Given the description of an element on the screen output the (x, y) to click on. 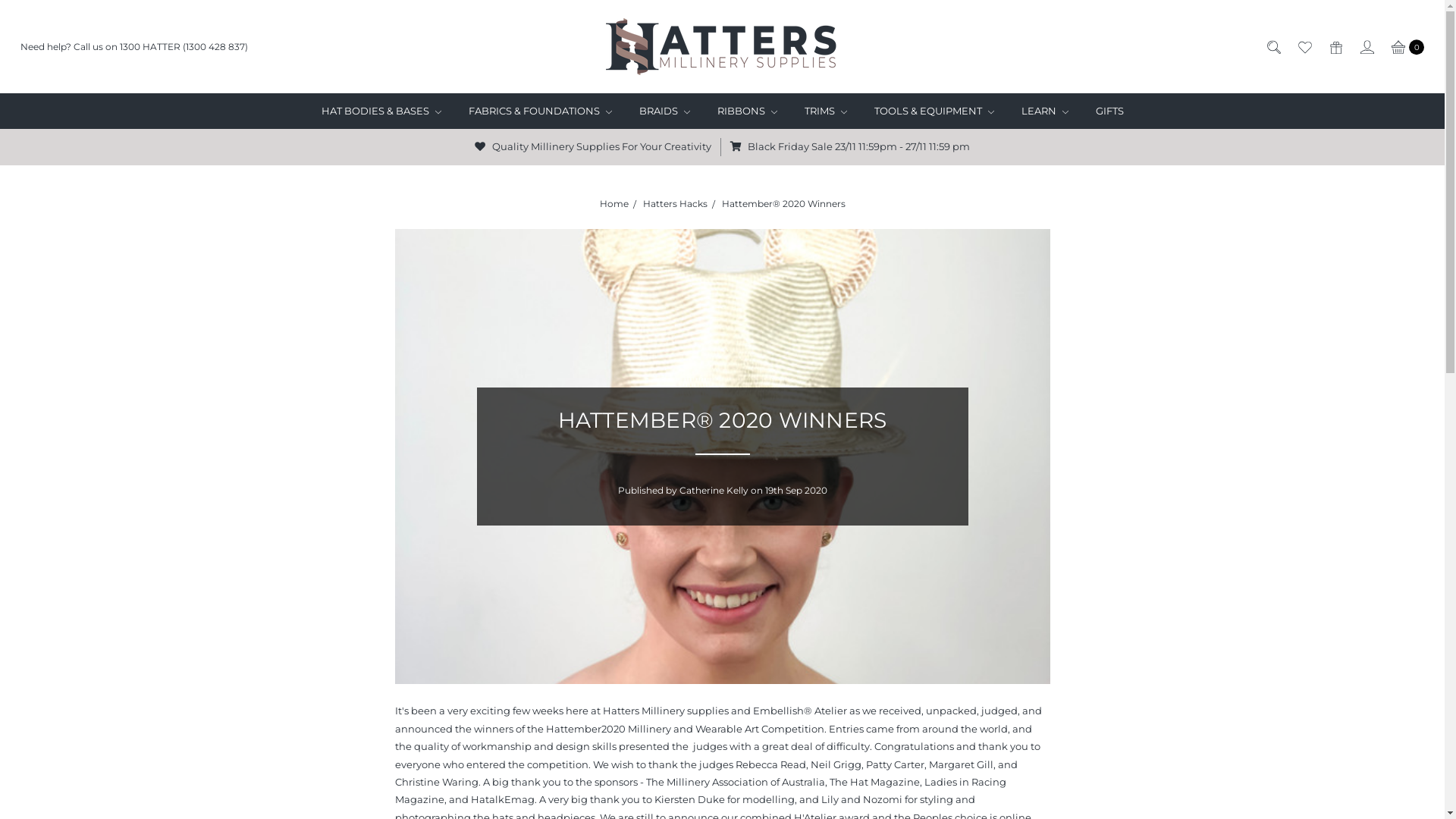
Hatters Millinery Supplies Element type: hover (721, 46)
FABRICS & FOUNDATIONS Element type: text (540, 110)
TRIMS Element type: text (824, 110)
Need help? Call us on 1300 HATTER (1300 428 837) Element type: text (133, 46)
0 Element type: text (1406, 46)
GIFTS Element type: text (1108, 110)
RIBBONS Element type: text (746, 110)
Home Element type: text (613, 203)
BRAIDS Element type: text (663, 110)
TOOLS & EQUIPMENT Element type: text (933, 110)
Hatters Hacks Element type: text (675, 203)
HAT BODIES & BASES Element type: text (381, 110)
LEARN Element type: text (1044, 110)
